Given the description of an element on the screen output the (x, y) to click on. 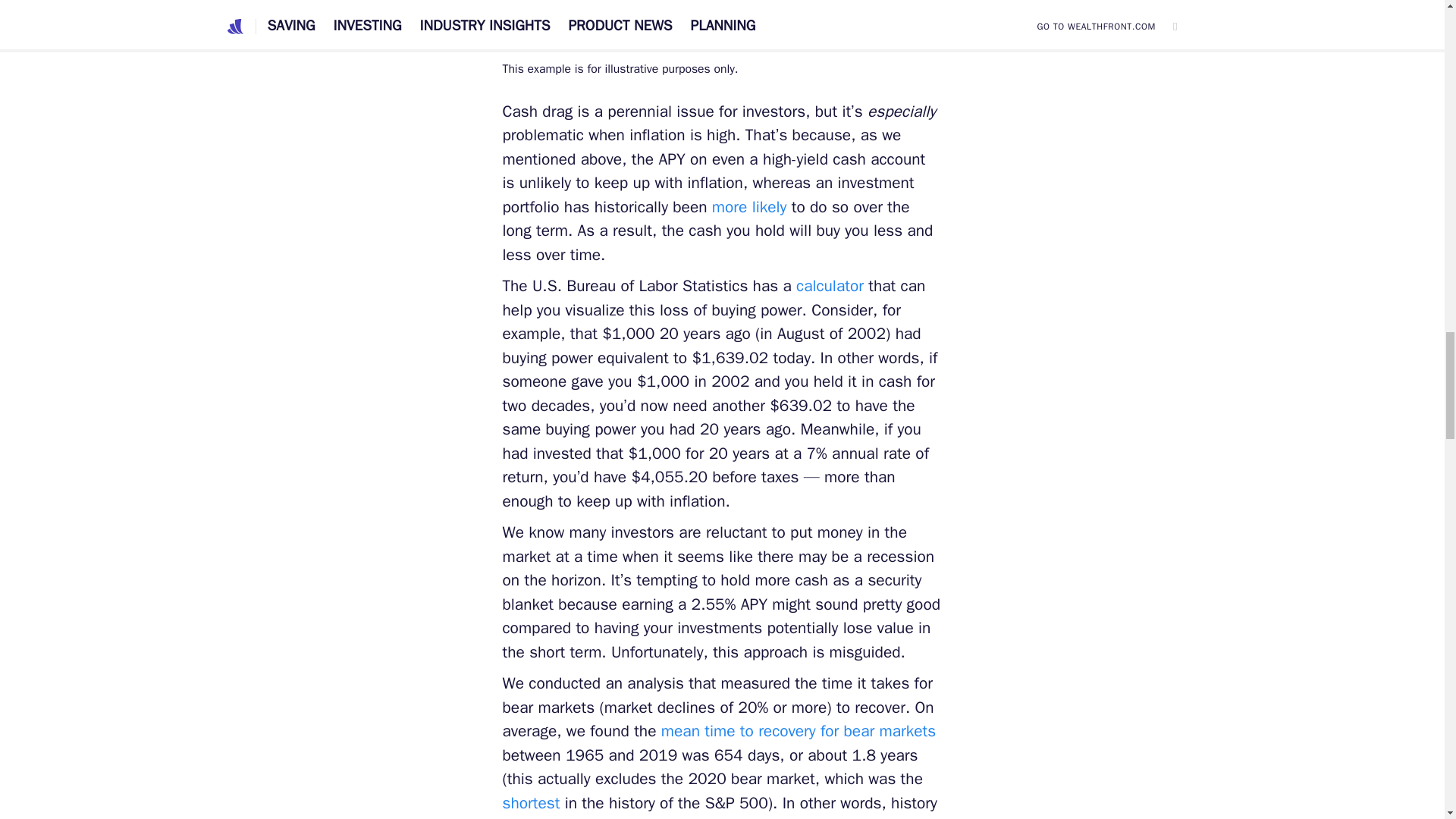
mean time to recovery for bear markets (798, 731)
more likely (749, 207)
shortest (530, 803)
calculator (829, 285)
